Given the description of an element on the screen output the (x, y) to click on. 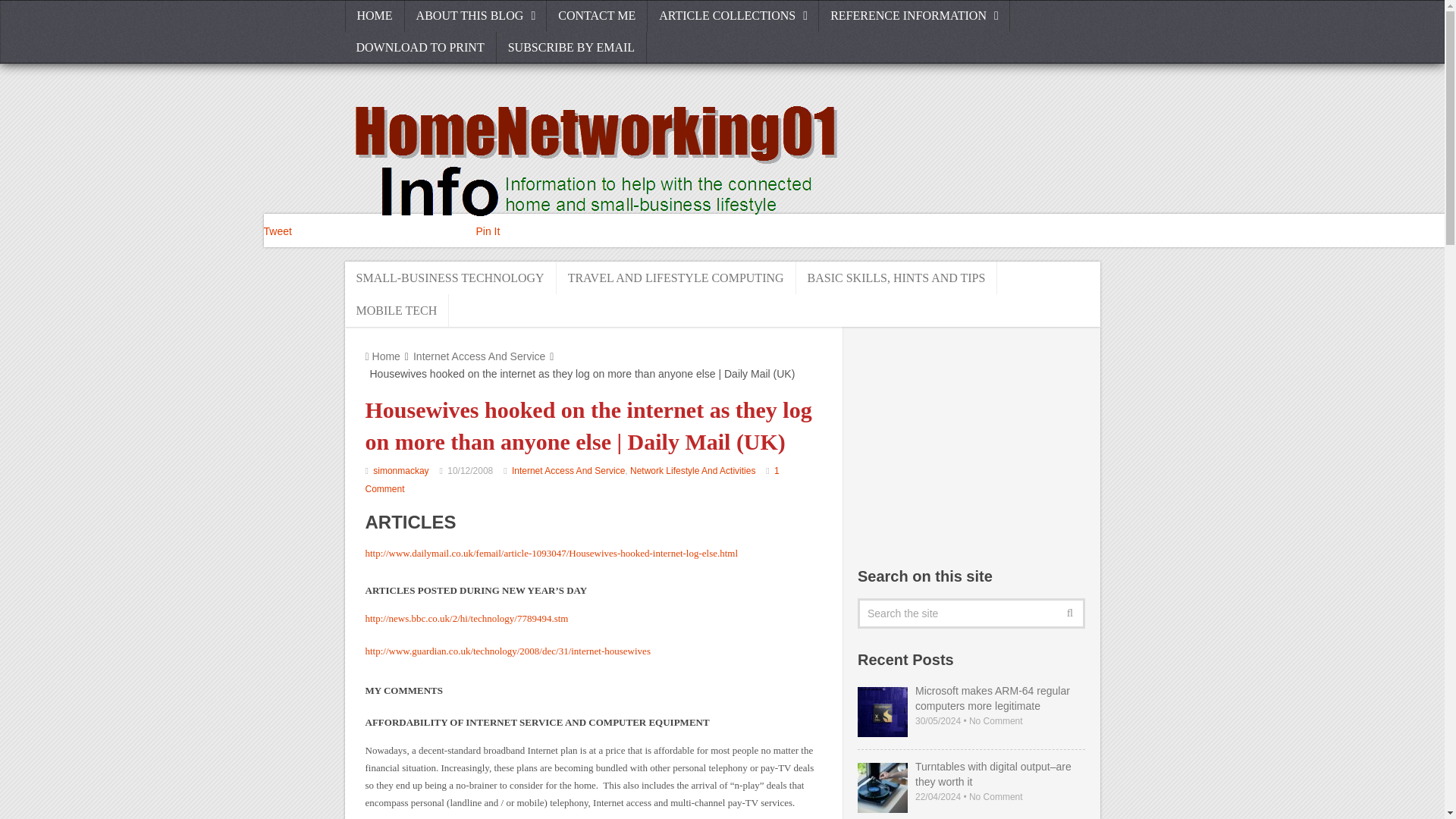
ABOUT THIS BLOG (475, 15)
ARTICLE COLLECTIONS (732, 15)
CONTACT ME (597, 15)
Network Lifestyle And Activities (692, 470)
DOWNLOAD TO PRINT (419, 47)
Advertisement (970, 444)
simonmackay (400, 470)
Microsoft makes ARM-64 regular computers more legitimate (970, 698)
View all posts in Internet Access And Service (568, 470)
Posts by simonmackay (400, 470)
